Given the description of an element on the screen output the (x, y) to click on. 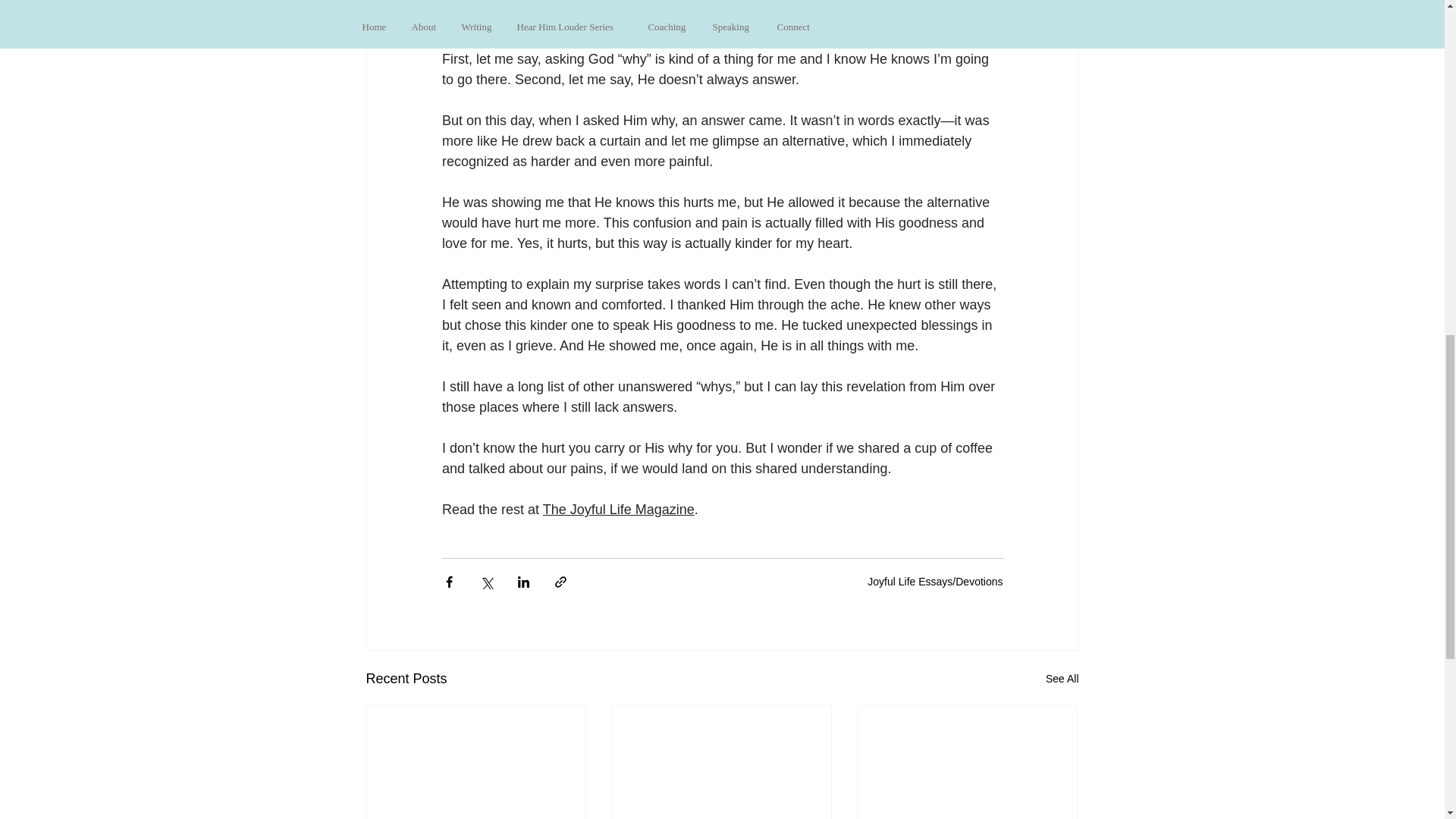
The Joyful Life Magazine (617, 509)
See All (1061, 679)
